Given the description of an element on the screen output the (x, y) to click on. 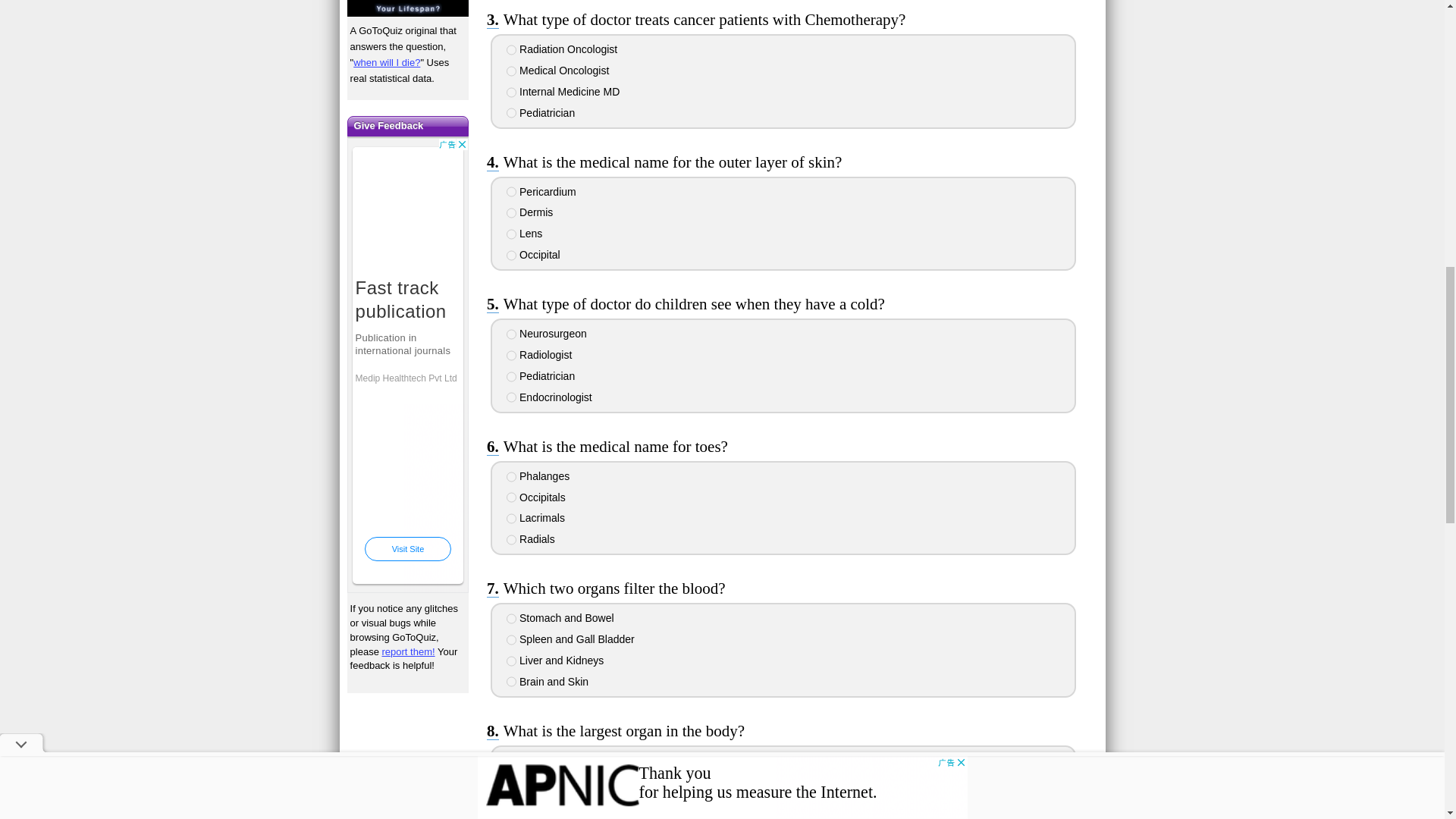
2 (511, 355)
1 (511, 191)
1 (511, 334)
report them! (408, 651)
4 (511, 255)
2 (511, 71)
4 (511, 397)
4 (511, 112)
1 (511, 50)
when will I die? (386, 61)
3 (511, 234)
2 (511, 213)
3 (511, 376)
Try our lifespan calculator (407, 7)
3 (511, 91)
